Given the description of an element on the screen output the (x, y) to click on. 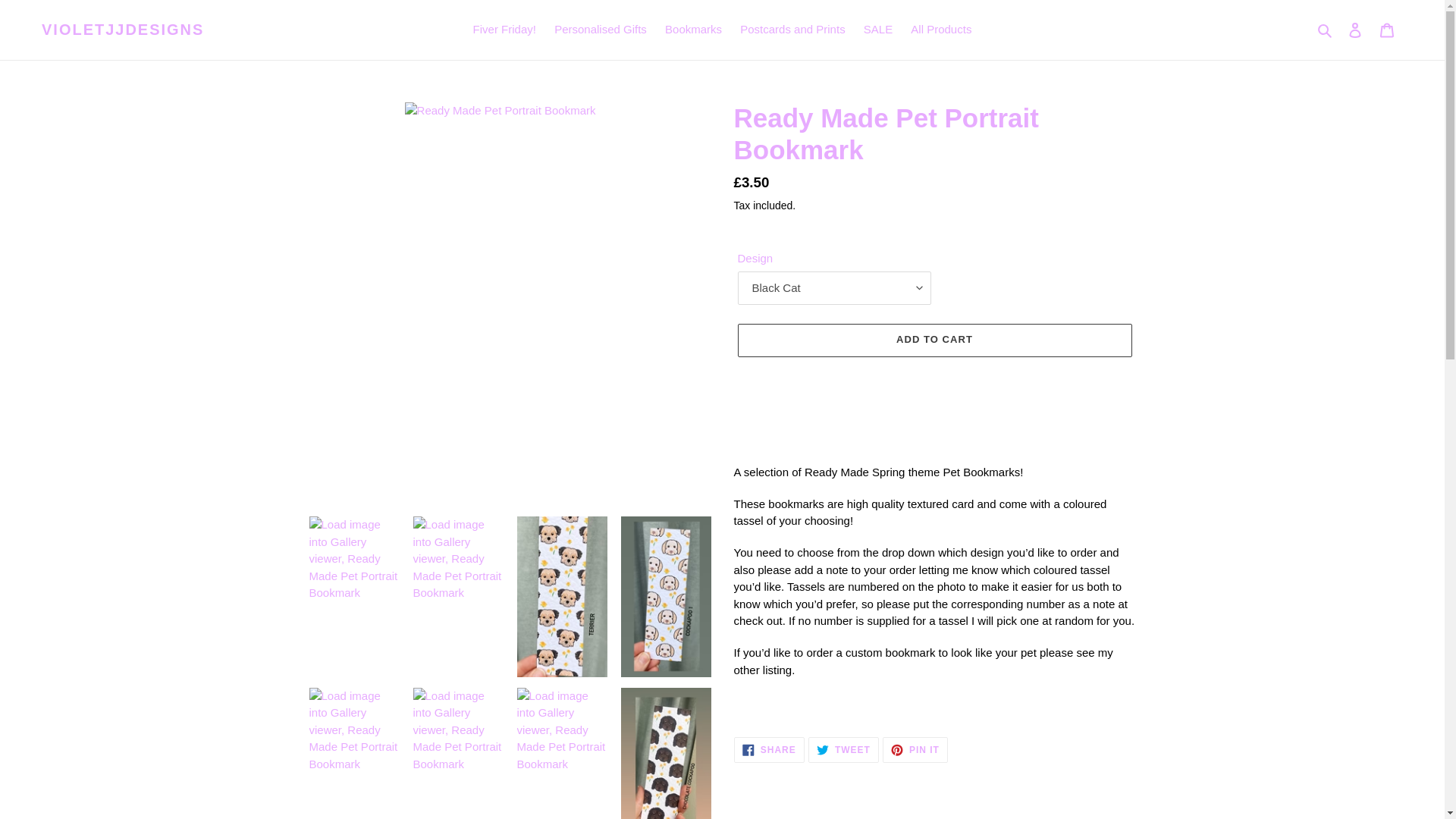
SALE (877, 29)
Personalised Gifts (600, 29)
Log in (769, 749)
All Products (1355, 29)
Postcards and Prints (940, 29)
VIOLETJJDESIGNS (791, 29)
Fiver Friday! (122, 29)
Bookmarks (504, 29)
Cart (693, 29)
